Given the description of an element on the screen output the (x, y) to click on. 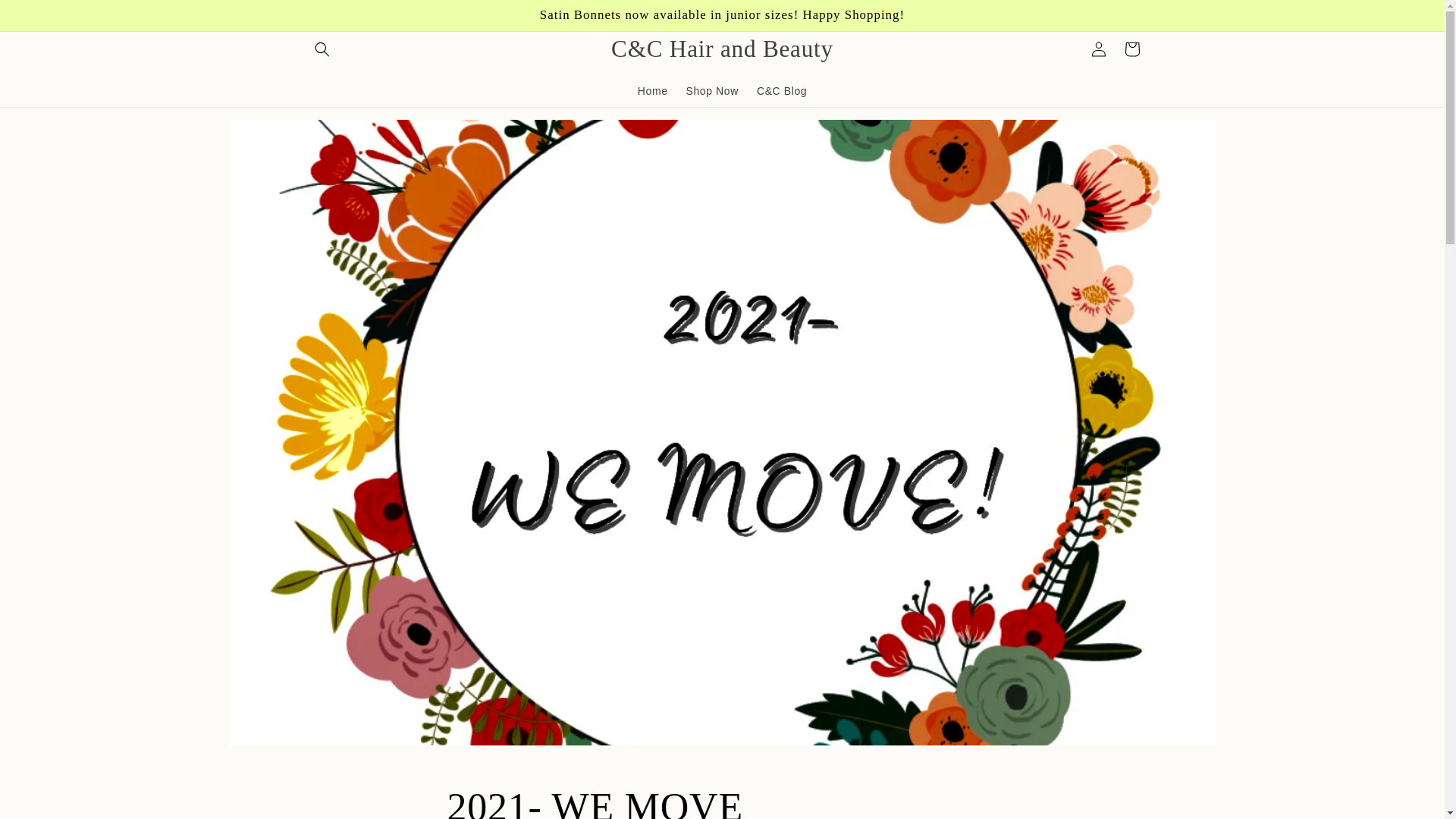
Shop Now (712, 90)
Log in (1098, 49)
Skip to content (45, 17)
Home (652, 90)
Cart (1131, 49)
